Given the description of an element on the screen output the (x, y) to click on. 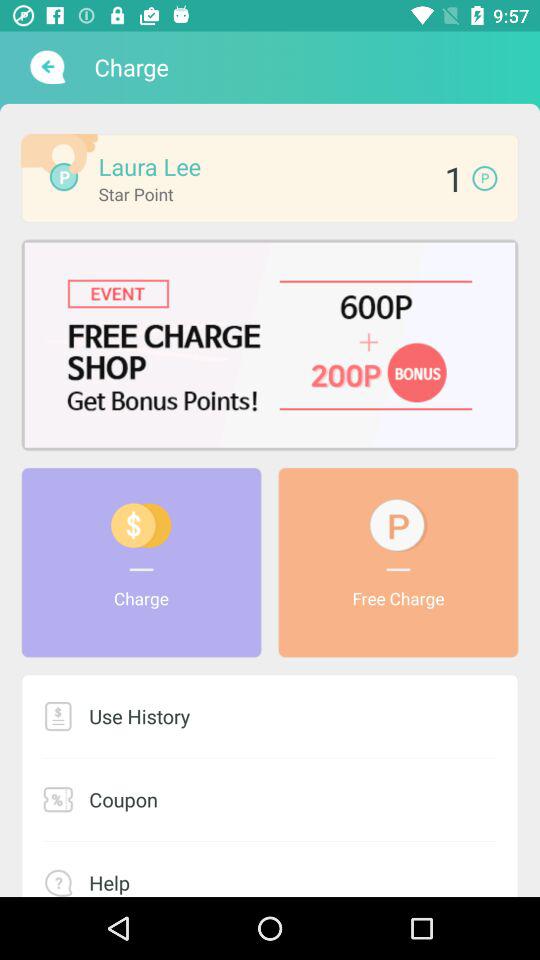
event info (269, 344)
